Given the description of an element on the screen output the (x, y) to click on. 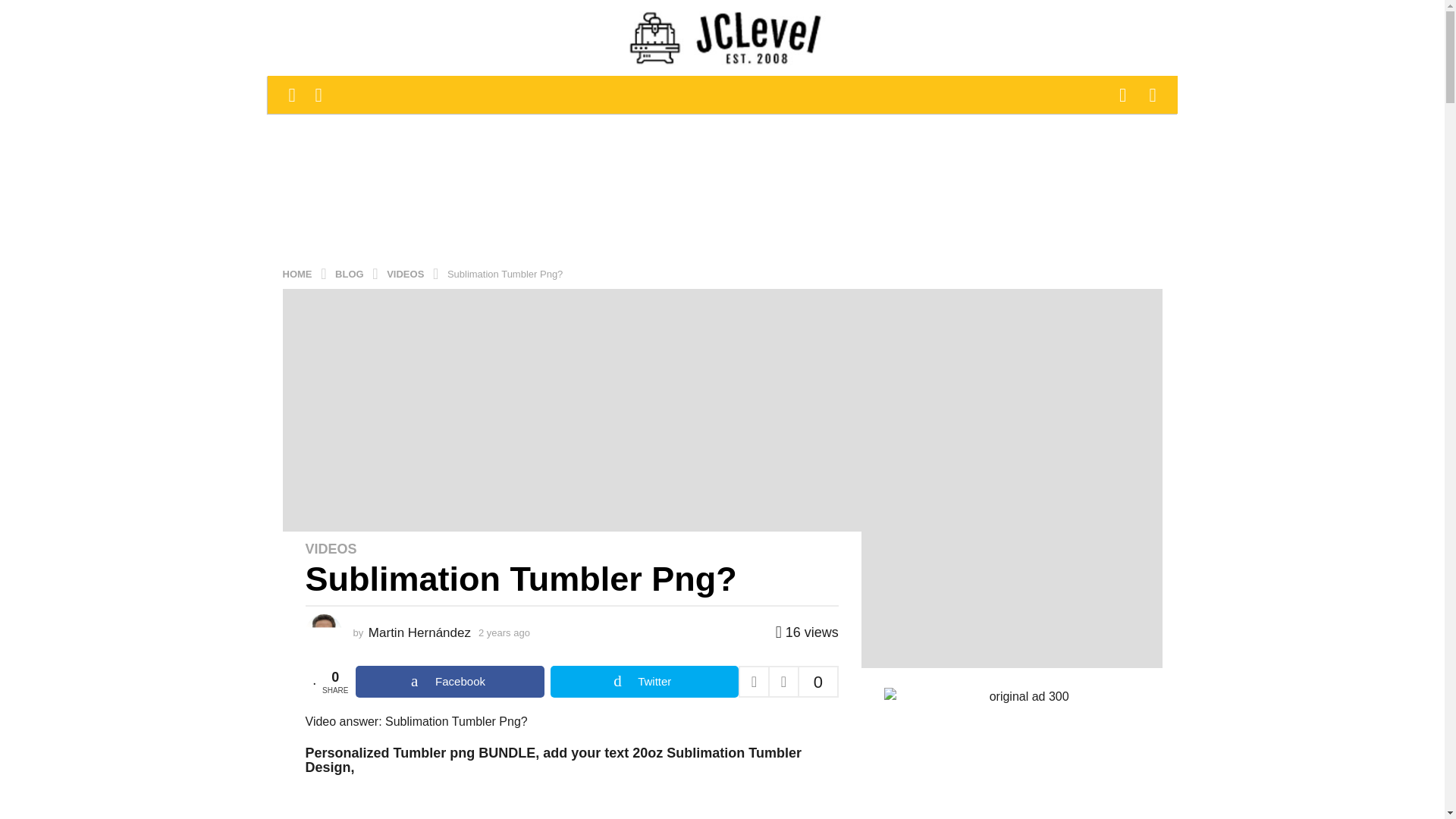
Share on Twitter (644, 681)
Share on Facebook (449, 681)
